Given the description of an element on the screen output the (x, y) to click on. 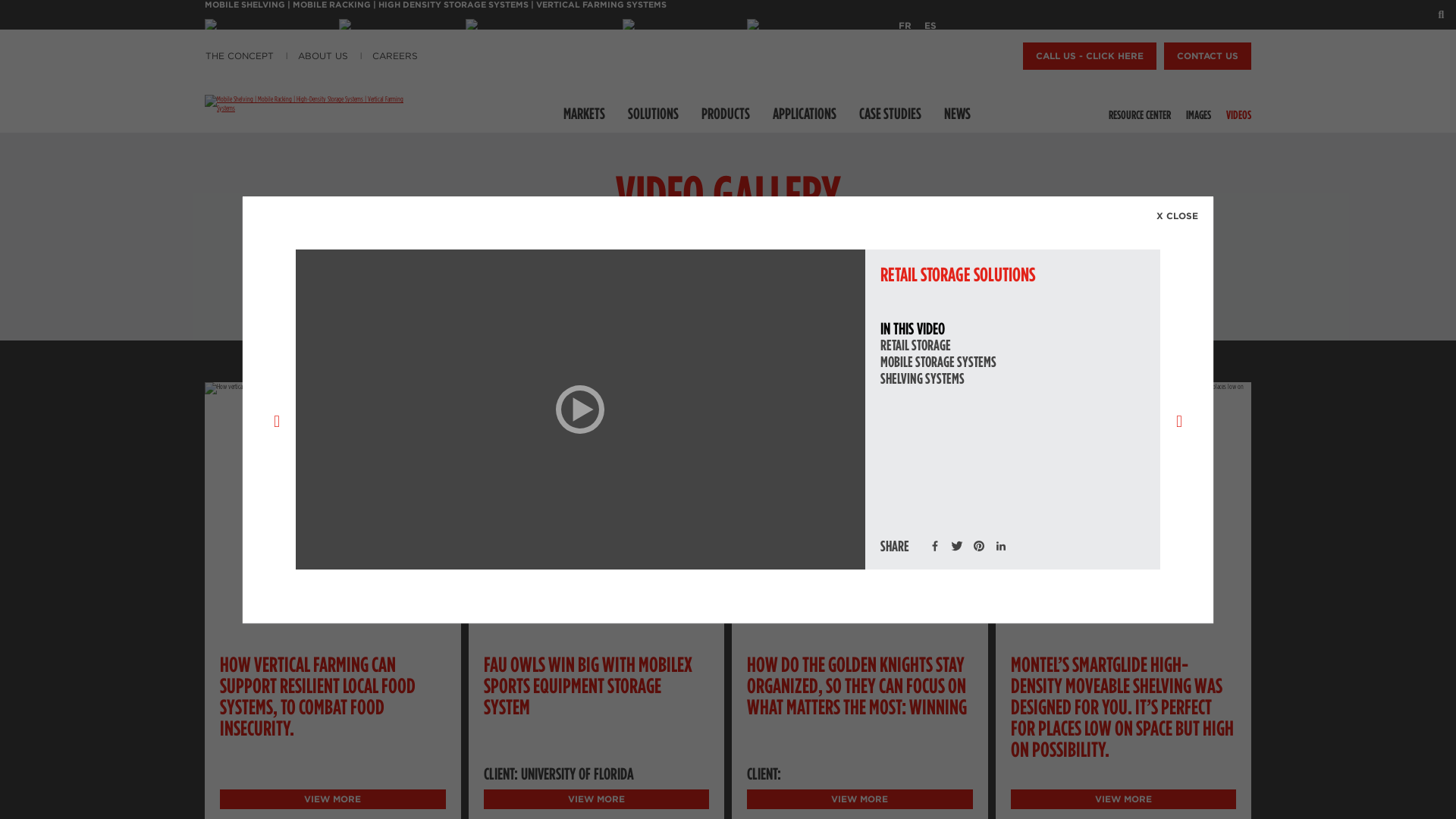
Montel on Pinterest (810, 24)
The Concept (242, 55)
Contact Us (1206, 55)
SOLUTIONS (651, 113)
Video Gallery (1242, 112)
Montel on Instagram (532, 24)
Image Gallery (1202, 112)
News (957, 113)
About Us (322, 55)
Montel on Facebook (272, 24)
